Given the description of an element on the screen output the (x, y) to click on. 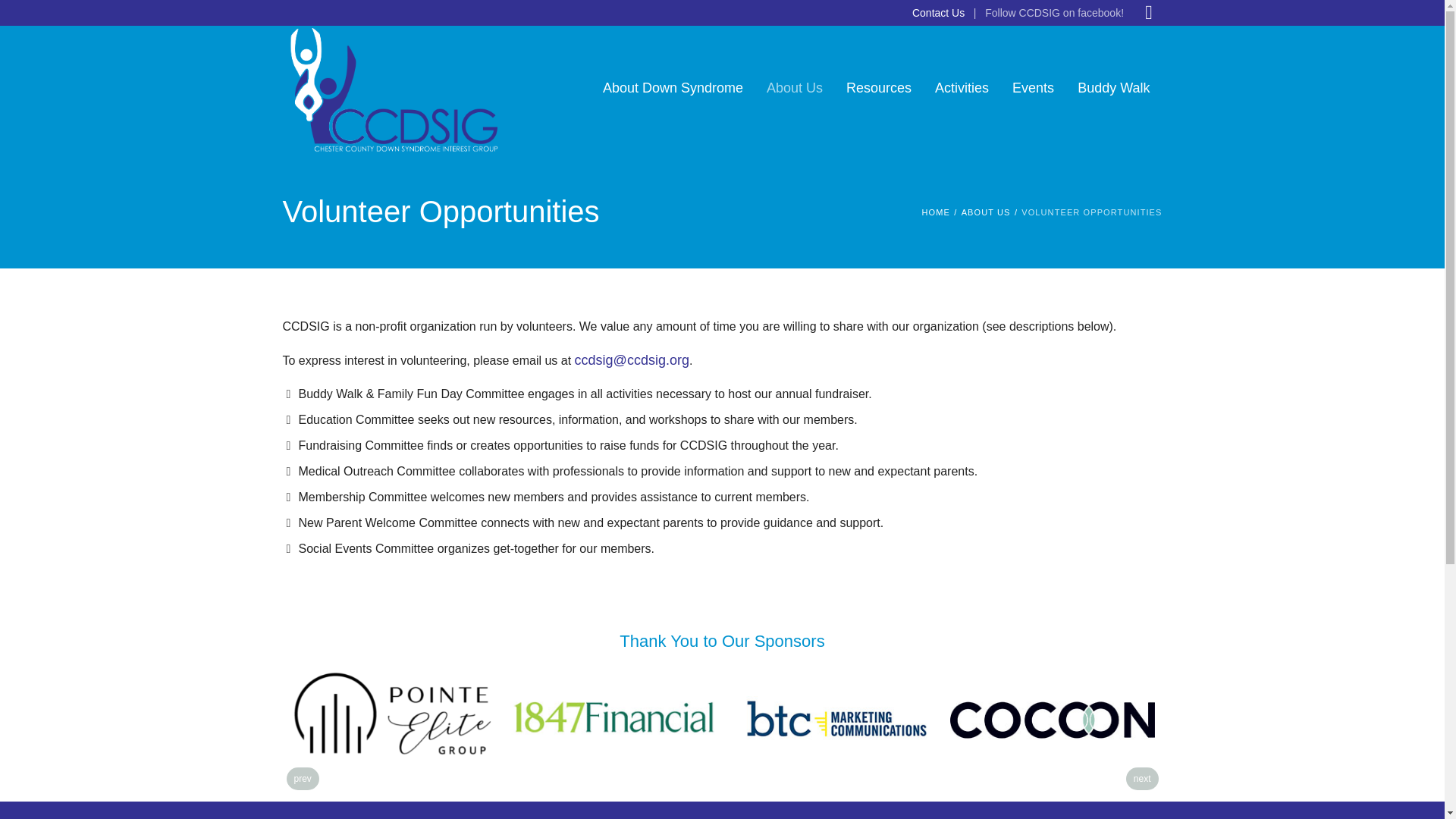
ABOUT US (985, 212)
About Us (794, 87)
About Down Syndrome (672, 87)
Contact Us (937, 12)
Activities (961, 87)
HOME (935, 212)
Resources (878, 87)
Events (1033, 87)
Buddy Walk (1112, 87)
Facebook (1148, 12)
